Given the description of an element on the screen output the (x, y) to click on. 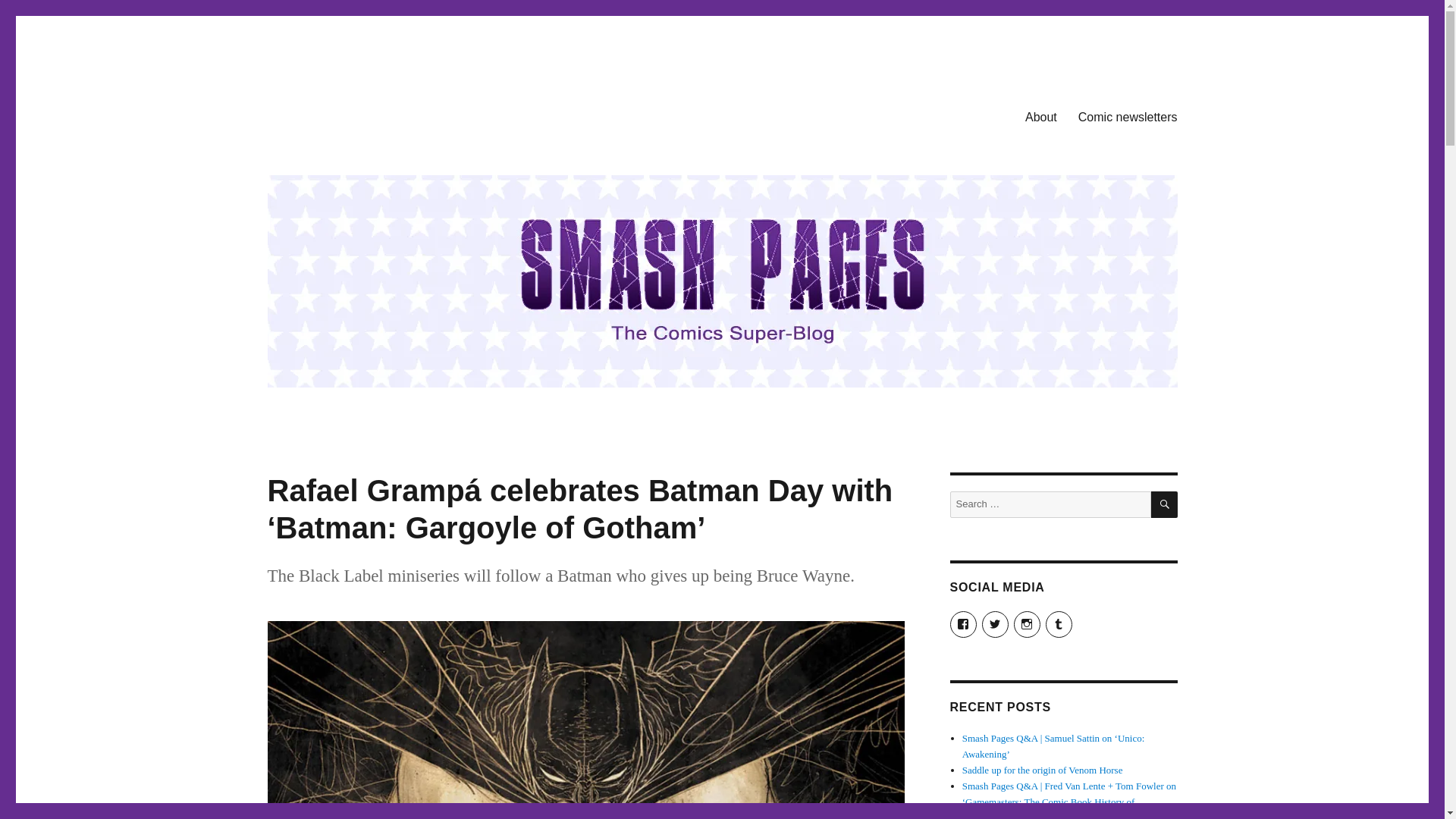
SEARCH (1164, 504)
Comic newsletters (1127, 116)
SMASH PAGES (344, 114)
About (1040, 116)
